Given the description of an element on the screen output the (x, y) to click on. 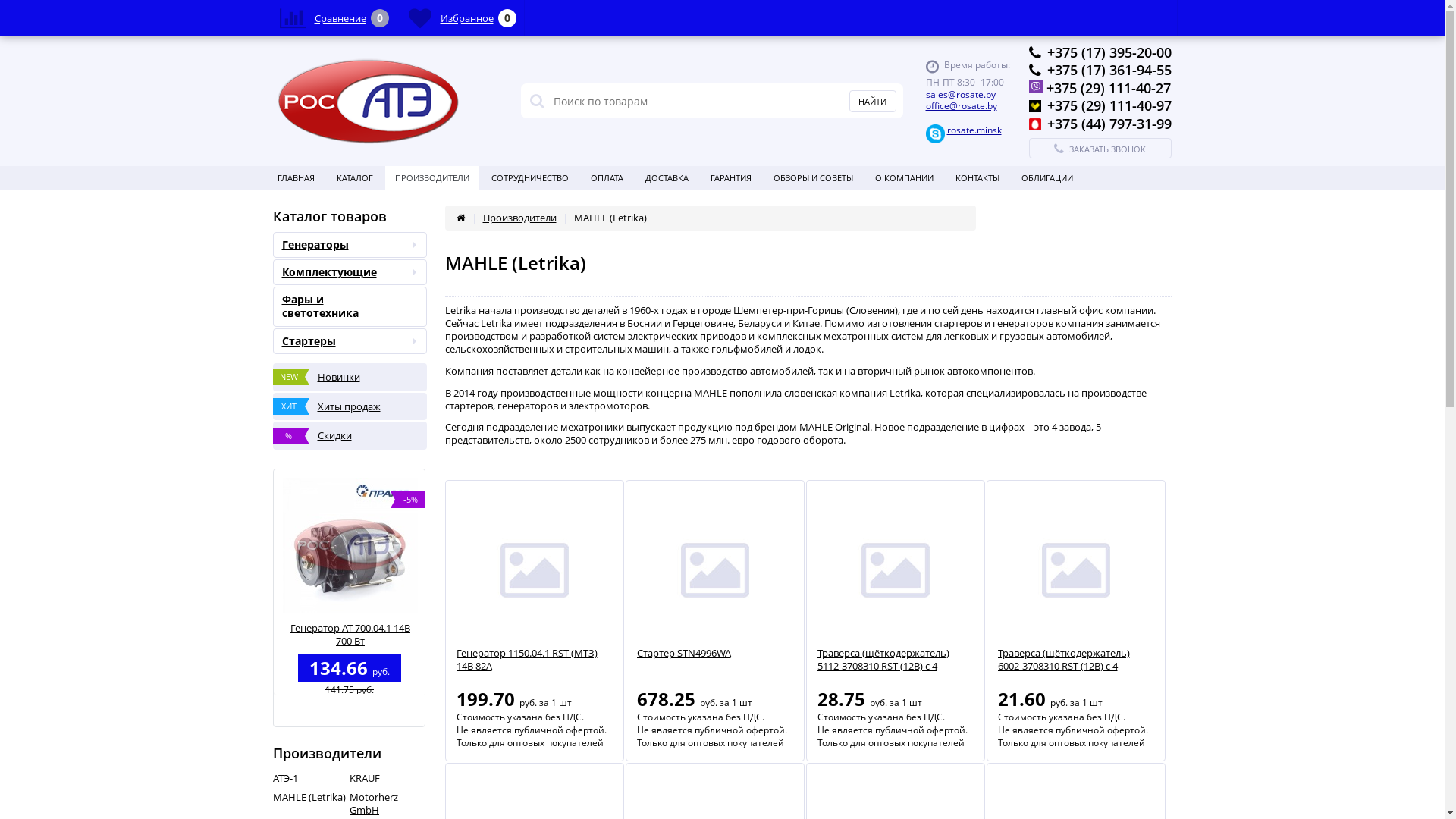
rosate.minsk Element type: text (973, 129)
-5% Element type: text (350, 544)
KRAUF Element type: text (387, 777)
+375 (17) 361-94-55 Element type: text (1108, 69)
+375 (17) 395-20-00 Element type: text (1108, 52)
+375 (29) 111-40-27 Element type: text (1108, 87)
+375 (44) 797-31-99 Element type: text (1108, 123)
MAHLE (Letrika) Element type: text (311, 796)
sales@rosate.by Element type: text (959, 93)
+375 (29) 111-40-97 Element type: text (1108, 105)
-5% Element type: text (197, 544)
office@rosate.by Element type: text (960, 105)
